Given the description of an element on the screen output the (x, y) to click on. 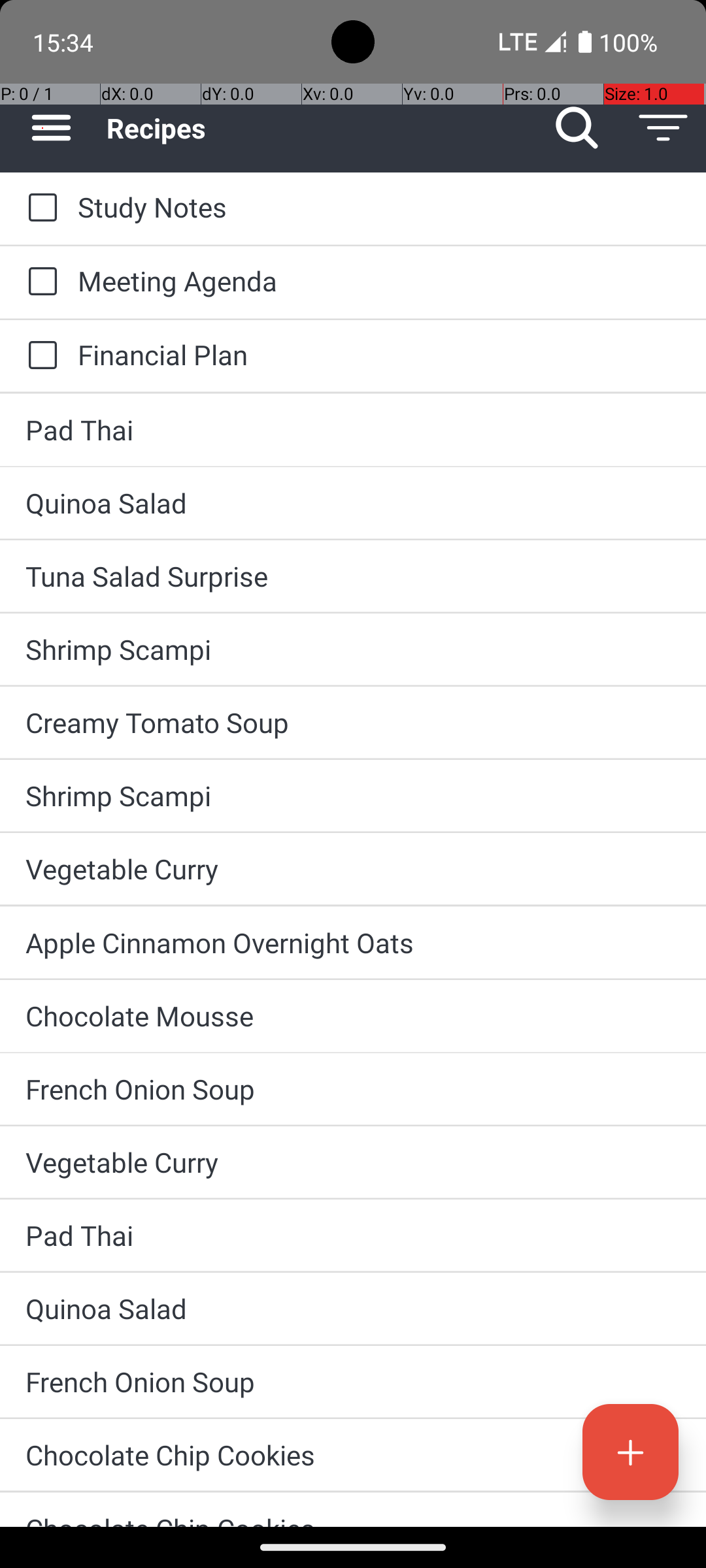
to-do: Study Notes Element type: android.widget.CheckBox (38, 208)
Study Notes Element type: android.widget.TextView (378, 206)
to-do: Meeting Agenda Element type: android.widget.CheckBox (38, 282)
to-do: Financial Plan Element type: android.widget.CheckBox (38, 356)
Financial Plan Element type: android.widget.TextView (378, 354)
Pad Thai Element type: android.widget.TextView (352, 429)
Quinoa Salad Element type: android.widget.TextView (352, 502)
Tuna Salad Surprise Element type: android.widget.TextView (352, 575)
Shrimp Scampi Element type: android.widget.TextView (352, 648)
Vegetable Curry Element type: android.widget.TextView (352, 868)
Apple Cinnamon Overnight Oats Element type: android.widget.TextView (352, 942)
Chocolate Mousse Element type: android.widget.TextView (352, 1015)
French Onion Soup Element type: android.widget.TextView (352, 1088)
Chocolate Chip Cookies Element type: android.widget.TextView (352, 1454)
